Given the description of an element on the screen output the (x, y) to click on. 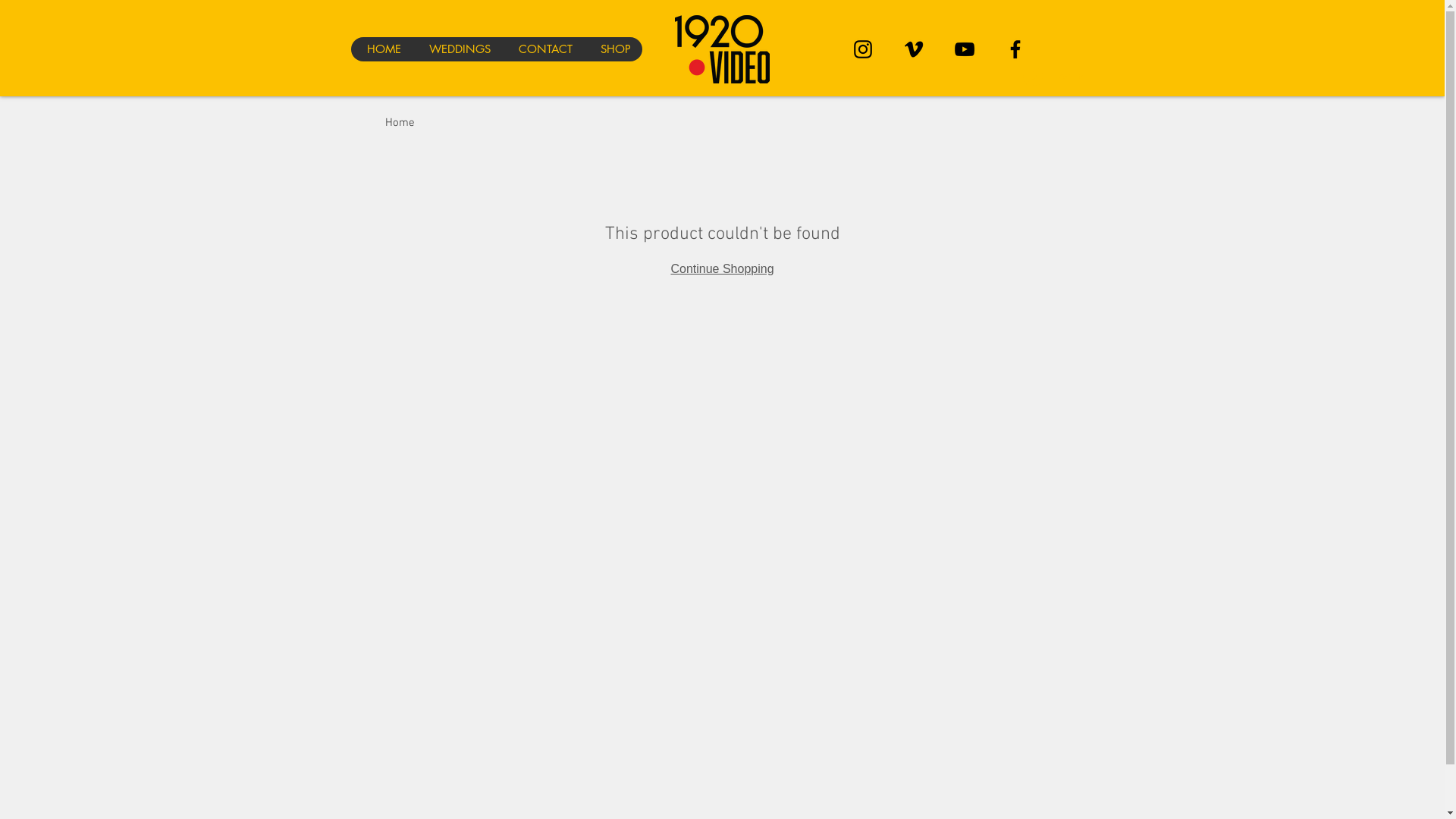
Continue Shopping Element type: text (721, 268)
SHOP Element type: text (612, 49)
WEDDINGS Element type: text (457, 49)
HOME Element type: text (380, 49)
Log In Element type: text (1052, 76)
CONTACT Element type: text (542, 49)
Home Element type: text (399, 122)
